Given the description of an element on the screen output the (x, y) to click on. 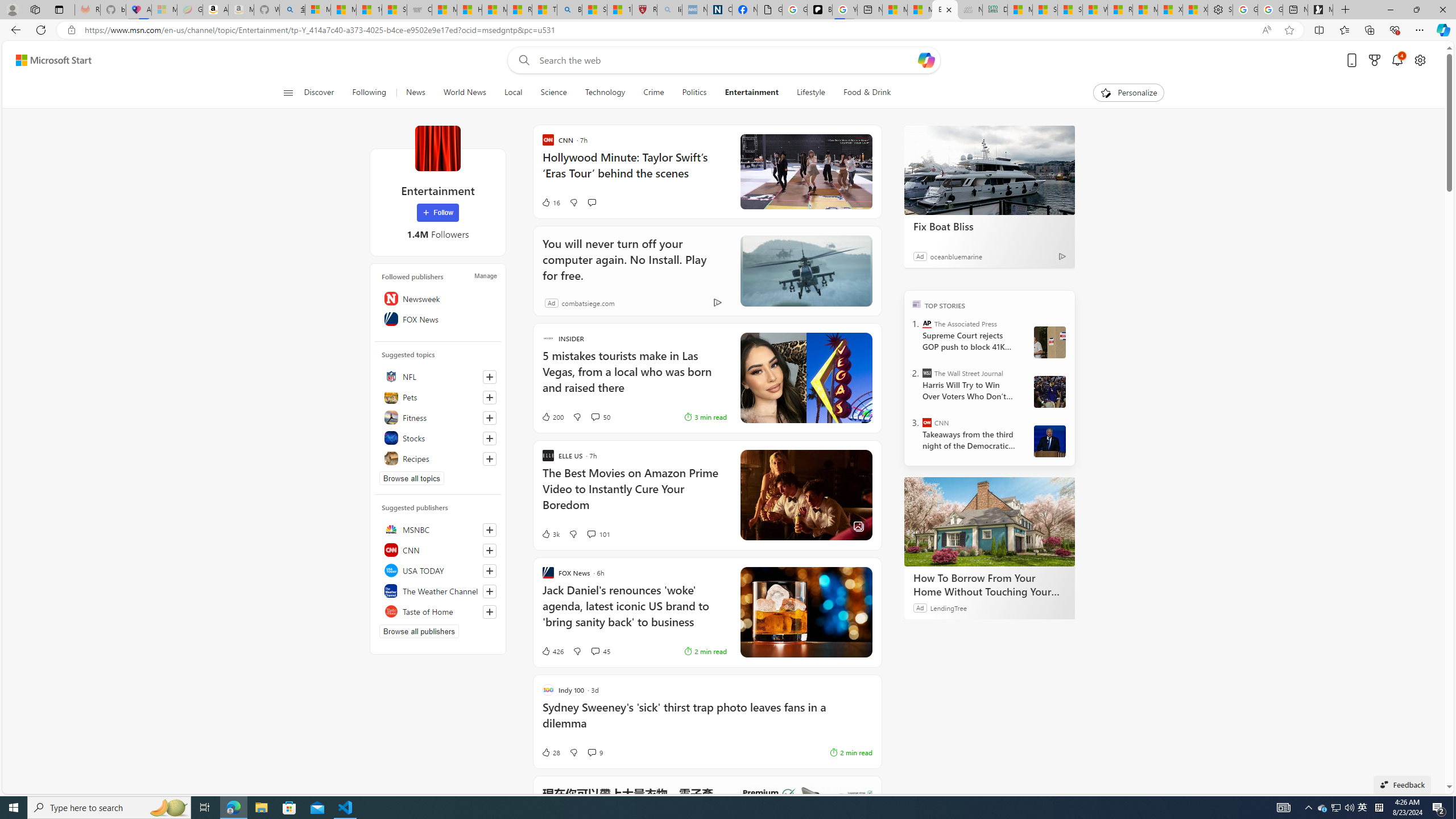
Follow this source (489, 612)
Combat Siege (418, 9)
Local (512, 92)
Bing (568, 9)
200 Like (551, 416)
Politics (694, 92)
The Associated Press (927, 323)
View comments 50 Comment (599, 416)
How To Borrow From Your Home Without Touching Your Mortgage (989, 521)
Entertainment (751, 92)
